Given the description of an element on the screen output the (x, y) to click on. 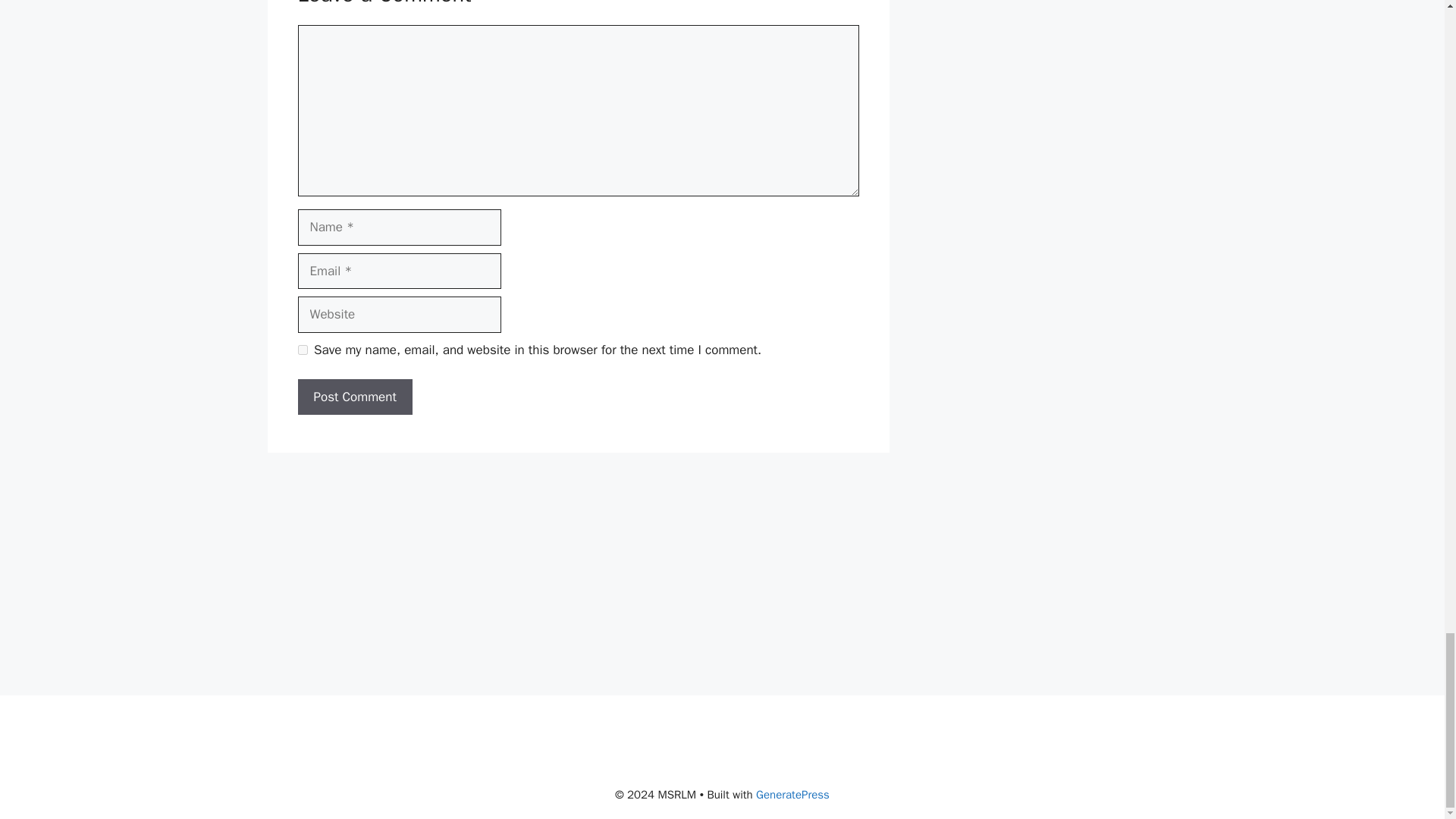
Post Comment (354, 397)
Post Comment (354, 397)
yes (302, 349)
